Given the description of an element on the screen output the (x, y) to click on. 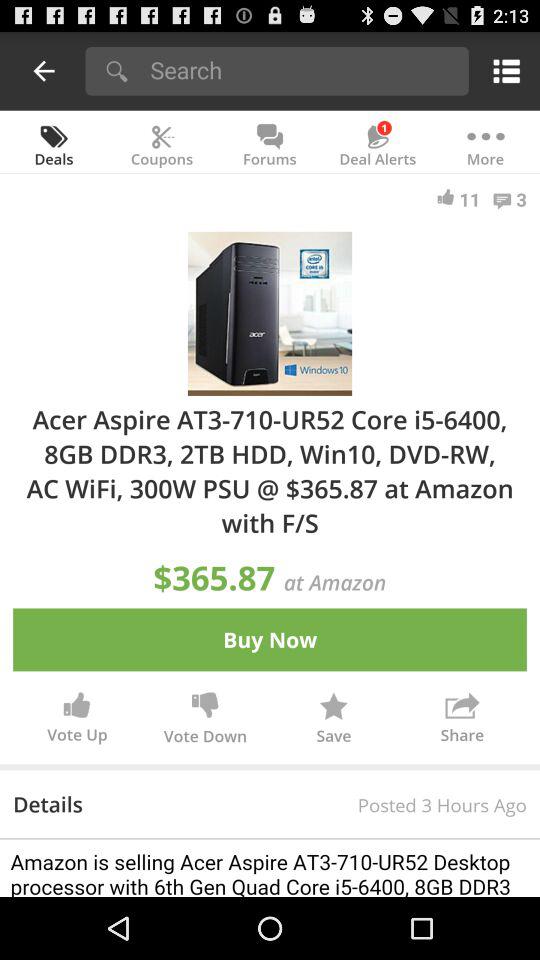
launch the acer aspire at3 item (269, 470)
